Given the description of an element on the screen output the (x, y) to click on. 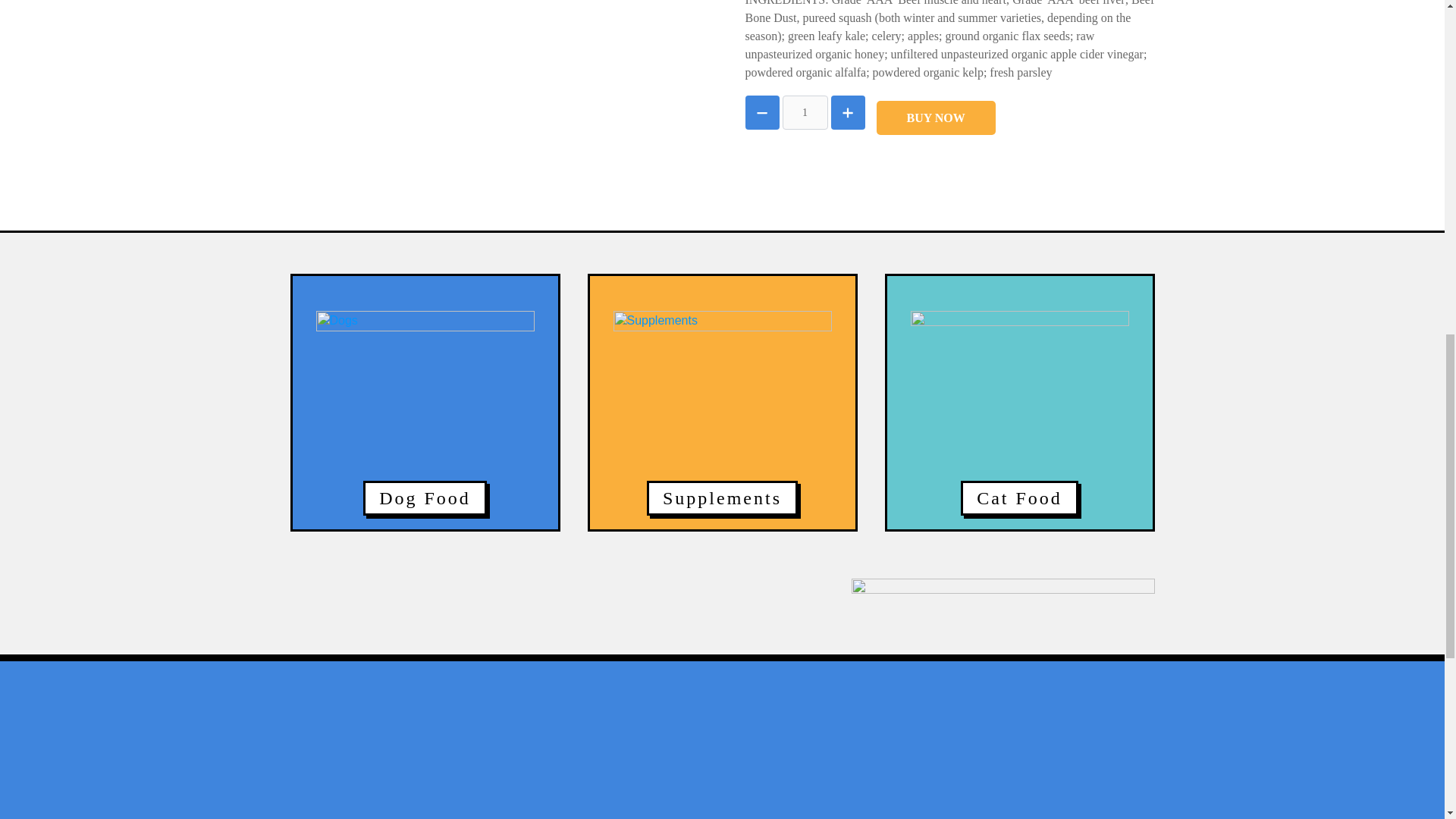
1 (805, 112)
Dogs (424, 420)
Supplements (721, 420)
